Given the description of an element on the screen output the (x, y) to click on. 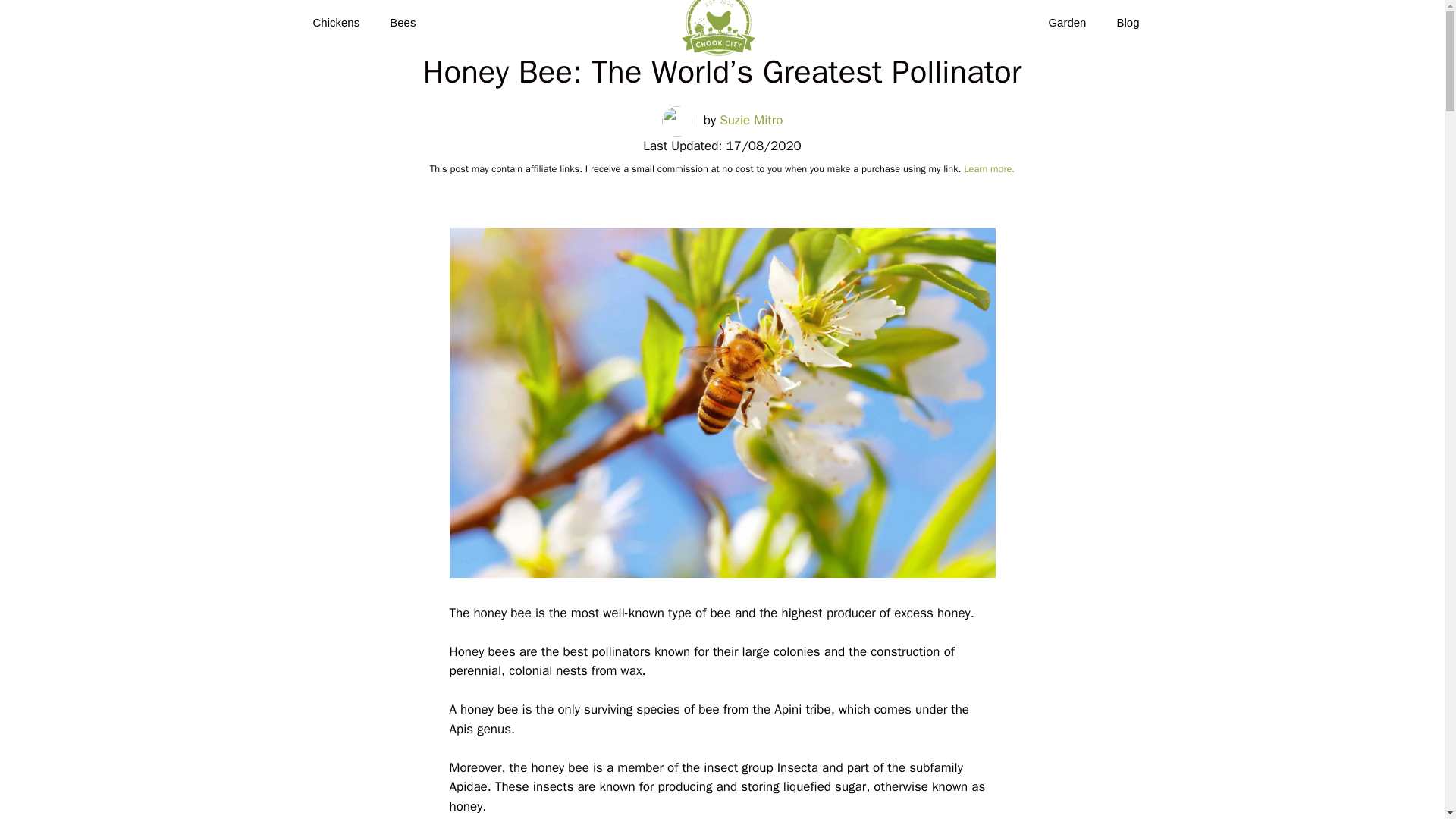
Menu Item Separator (731, 22)
Garden (1066, 22)
Chook City (722, 33)
Chook City (718, 33)
Bees (402, 22)
Suzie Mitro (751, 120)
Learn more. (988, 168)
Blog (1127, 22)
Chickens (335, 22)
